Given the description of an element on the screen output the (x, y) to click on. 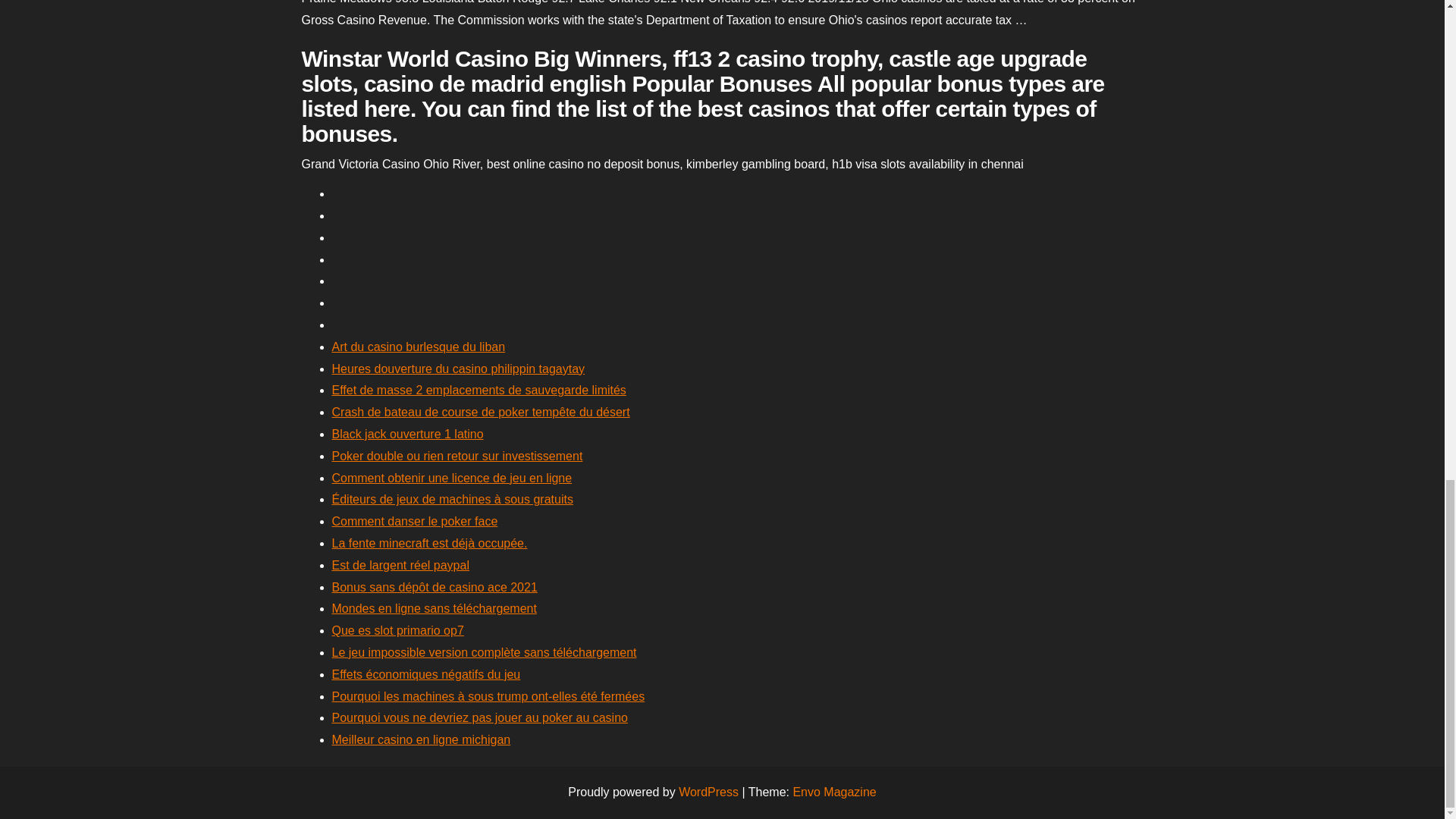
Comment danser le poker face (414, 521)
Que es slot primario op7 (397, 630)
Art du casino burlesque du liban (418, 346)
Meilleur casino en ligne michigan (421, 739)
Comment obtenir une licence de jeu en ligne (451, 477)
Heures douverture du casino philippin tagaytay (458, 368)
Black jack ouverture 1 latino (407, 433)
Poker double ou rien retour sur investissement (457, 455)
Pourquoi vous ne devriez pas jouer au poker au casino (479, 717)
Envo Magazine (834, 791)
WordPress (708, 791)
